Given the description of an element on the screen output the (x, y) to click on. 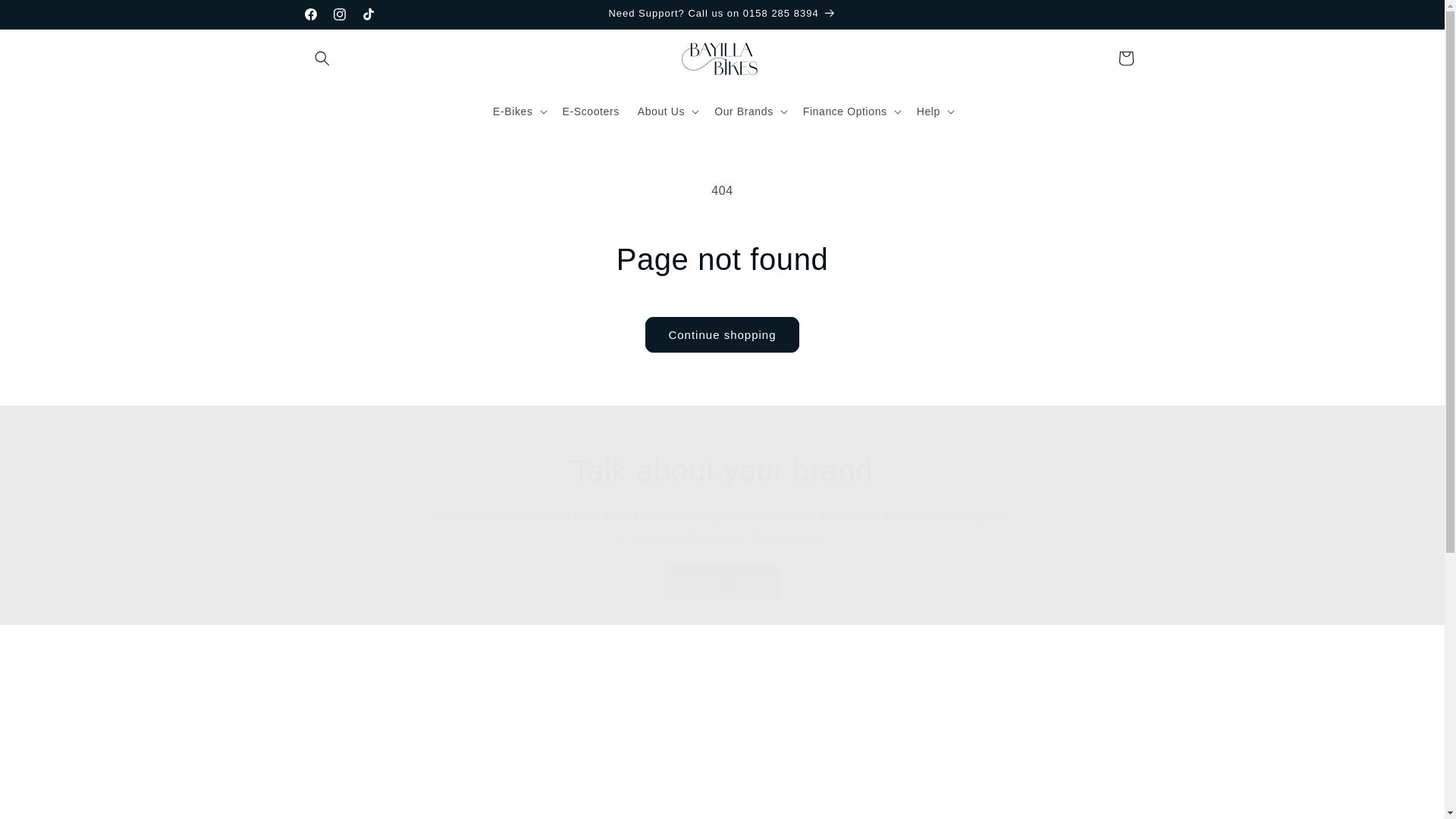
Talk about your brand (721, 470)
Need Support? Call us on 0158 285 8394 (721, 14)
tel:01582 858934 (766, 786)
Facebook (309, 14)
Button label (722, 582)
TikTok (367, 14)
Skip to content (45, 17)
Instagram (338, 14)
